Given the description of an element on the screen output the (x, y) to click on. 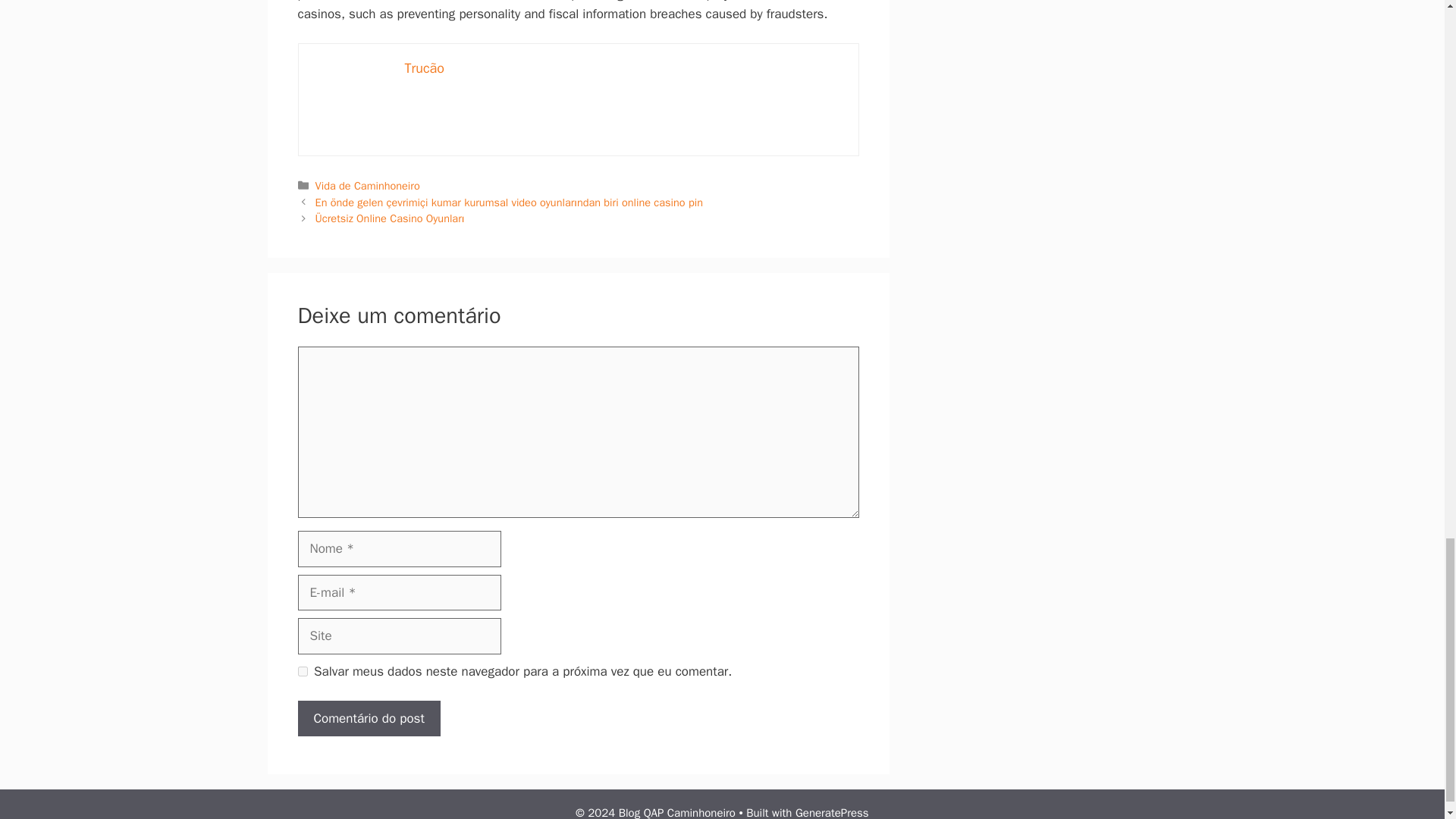
Vida de Caminhoneiro (367, 185)
Anterior (509, 202)
yes (302, 671)
GeneratePress (831, 812)
